Given the description of an element on the screen output the (x, y) to click on. 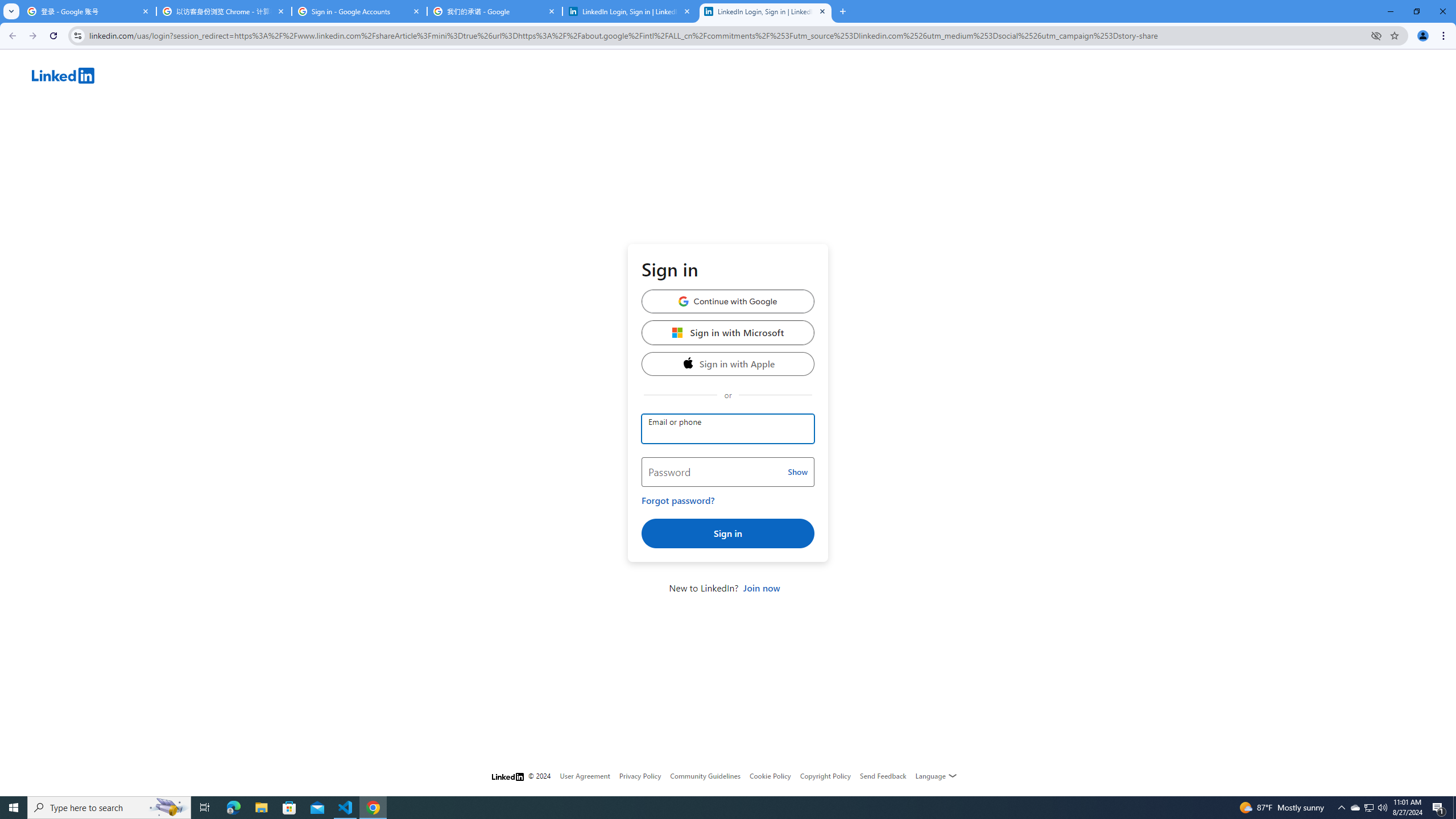
Microsoft (677, 332)
LinkedIn Login, Sign in | LinkedIn (765, 11)
AutomationID: linkedin-logo (63, 75)
Language (935, 775)
Send Feedback (883, 775)
LinkedIn Login, Sign in | LinkedIn (630, 11)
